Given the description of an element on the screen output the (x, y) to click on. 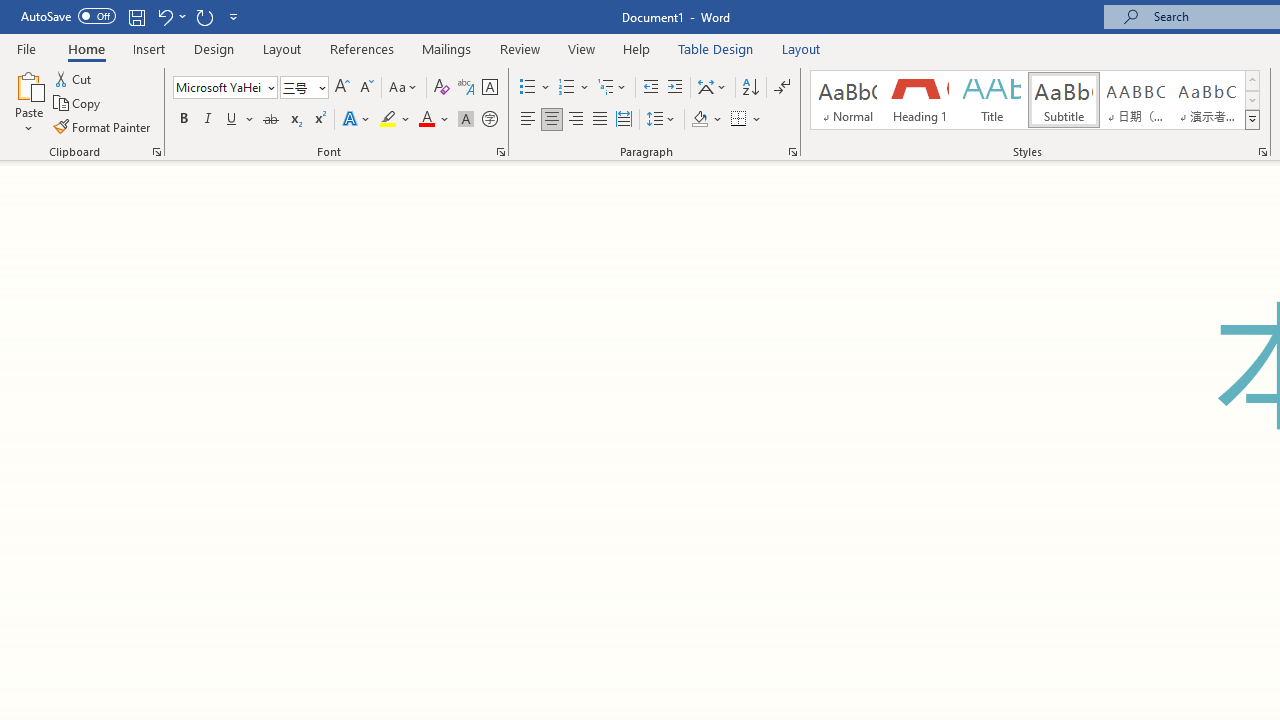
Numbering (573, 87)
Paste (28, 102)
Undo Apply Quick Style (170, 15)
Underline (232, 119)
Design (214, 48)
Bullets (535, 87)
Clear Formatting (442, 87)
Paste (28, 84)
Enclose Characters... (489, 119)
Numbering (566, 87)
Styles... (1262, 151)
Customize Quick Access Toolbar (234, 15)
Character Shading (465, 119)
Title (991, 100)
Align Right (575, 119)
